Given the description of an element on the screen output the (x, y) to click on. 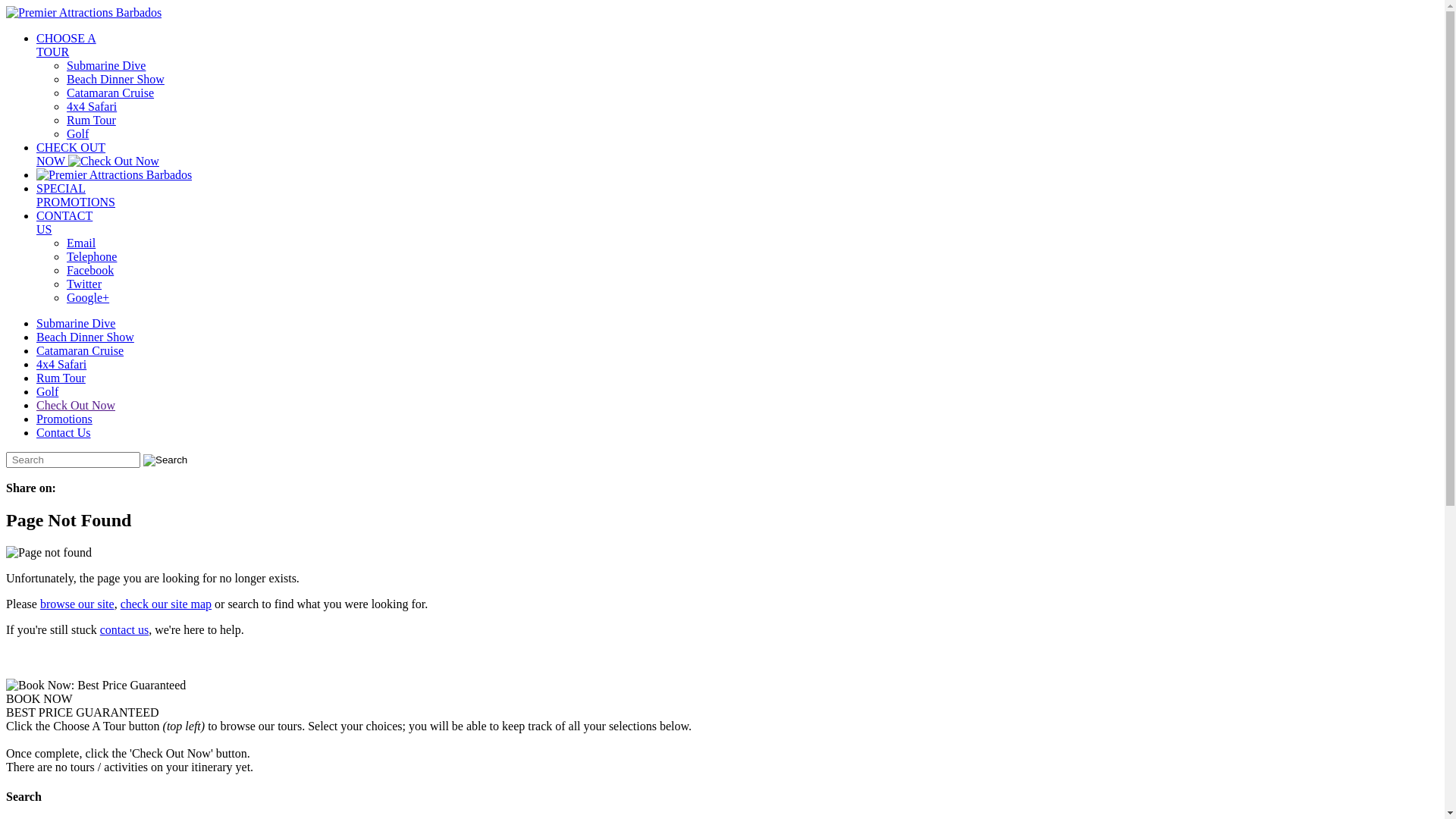
SPECIAL
PROMOTIONS Element type: text (75, 195)
Check Out Now Element type: text (75, 404)
Rum Tour Element type: text (91, 119)
Submarine Dive Element type: text (105, 65)
Rum Tour Element type: text (60, 377)
Catamaran Cruise Element type: text (109, 92)
Beach Dinner Show Element type: text (85, 336)
CHOOSE A
TOUR Element type: text (66, 44)
Google+ Element type: text (87, 297)
4x4 Safari Element type: text (91, 106)
browse our site Element type: text (77, 603)
Golf Element type: text (47, 391)
Twitter Element type: text (83, 283)
contact us Element type: text (124, 629)
CONTACT
US Element type: text (64, 222)
Facebook Element type: text (89, 269)
4x4 Safari Element type: text (61, 363)
Email Element type: text (80, 242)
Submarine Dive Element type: text (75, 322)
Telephone Element type: text (91, 256)
Catamaran Cruise Element type: text (79, 350)
Promotions Element type: text (64, 418)
CHECK OUT
NOW Element type: text (97, 154)
Beach Dinner Show Element type: text (115, 78)
check our site map Element type: text (165, 603)
Contact Us Element type: text (63, 432)
Golf Element type: text (77, 133)
